Given the description of an element on the screen output the (x, y) to click on. 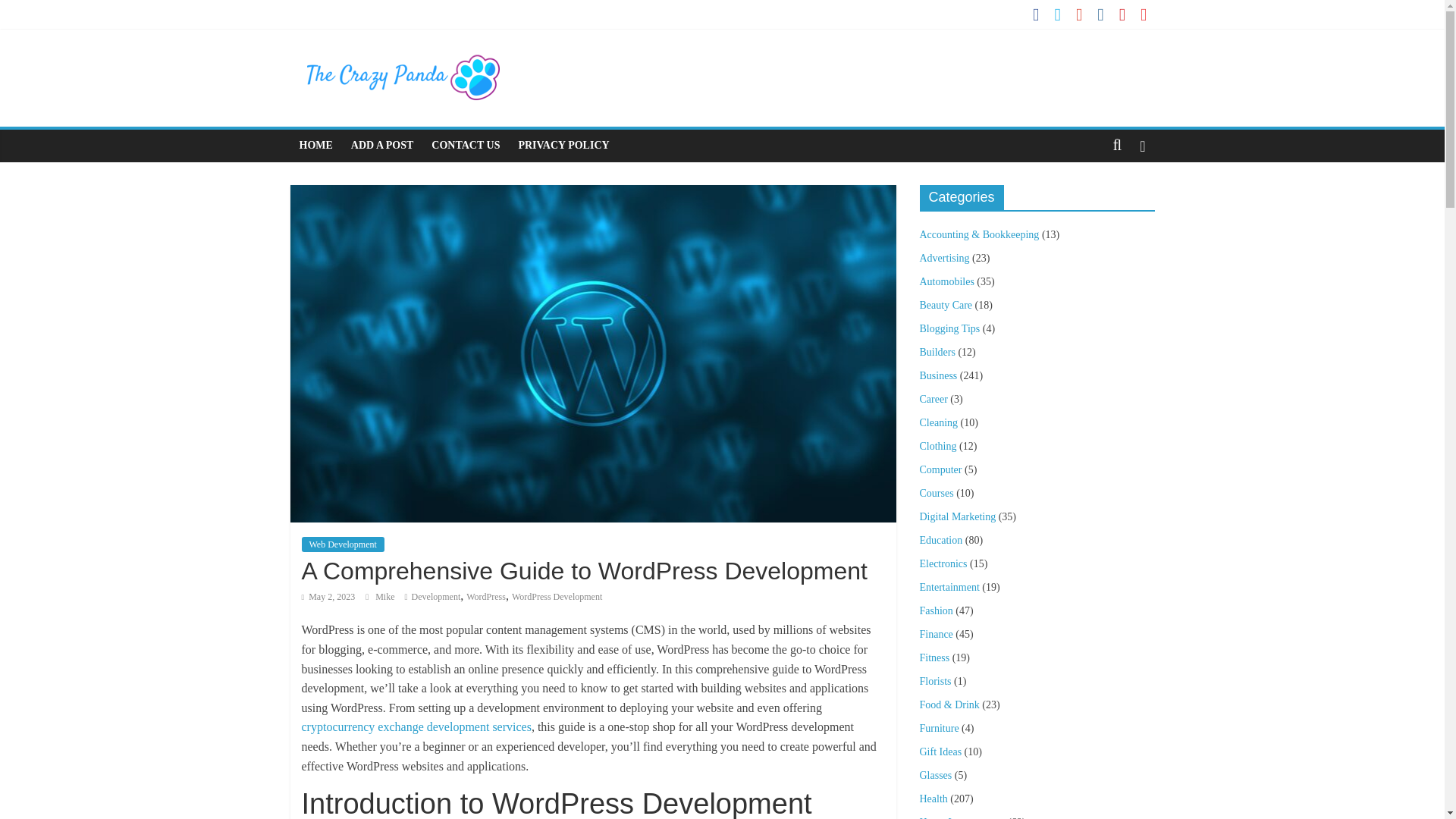
cryptocurrency exchange development services (416, 726)
CONTACT US (465, 145)
Mike (385, 596)
HOME (314, 145)
Automobiles (946, 281)
Advertising (943, 257)
WordPress Development (557, 596)
ADD A POST (382, 145)
11:45 am (328, 596)
Mike (385, 596)
